Given the description of an element on the screen output the (x, y) to click on. 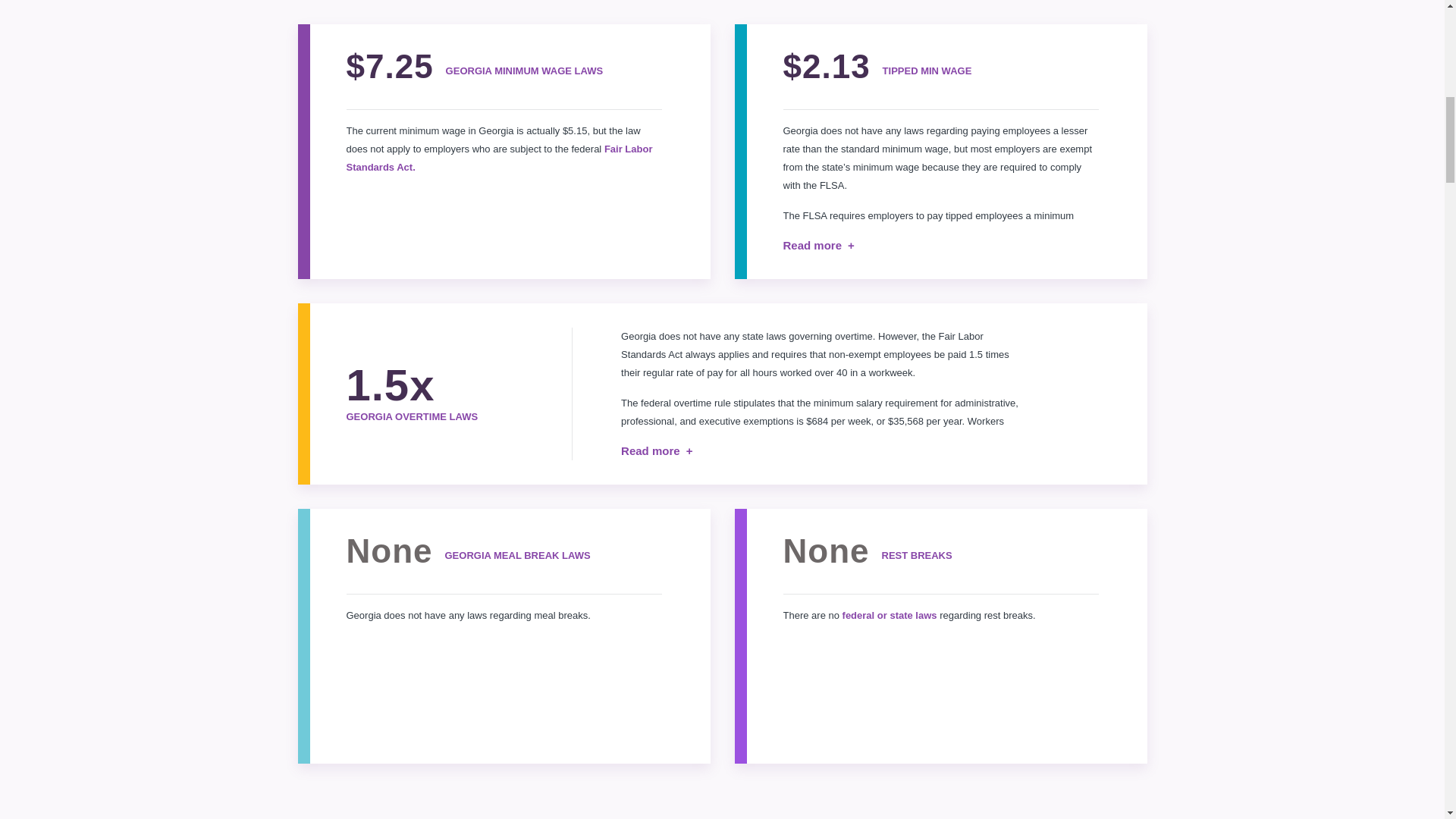
Read more (818, 245)
Fair Labor Standards Act. (499, 157)
